Given the description of an element on the screen output the (x, y) to click on. 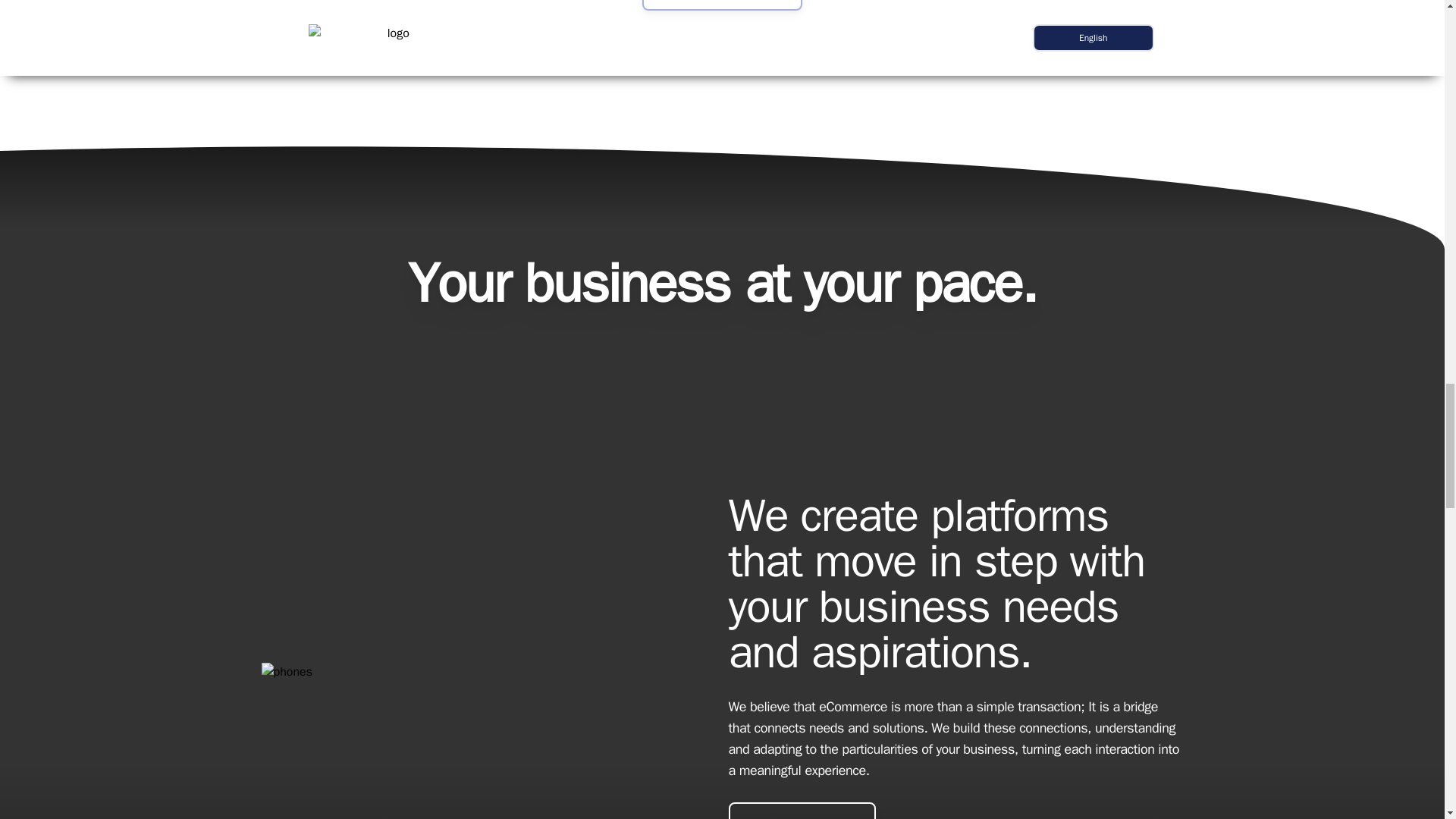
Contact us (801, 810)
Contact us (722, 5)
